Given the description of an element on the screen output the (x, y) to click on. 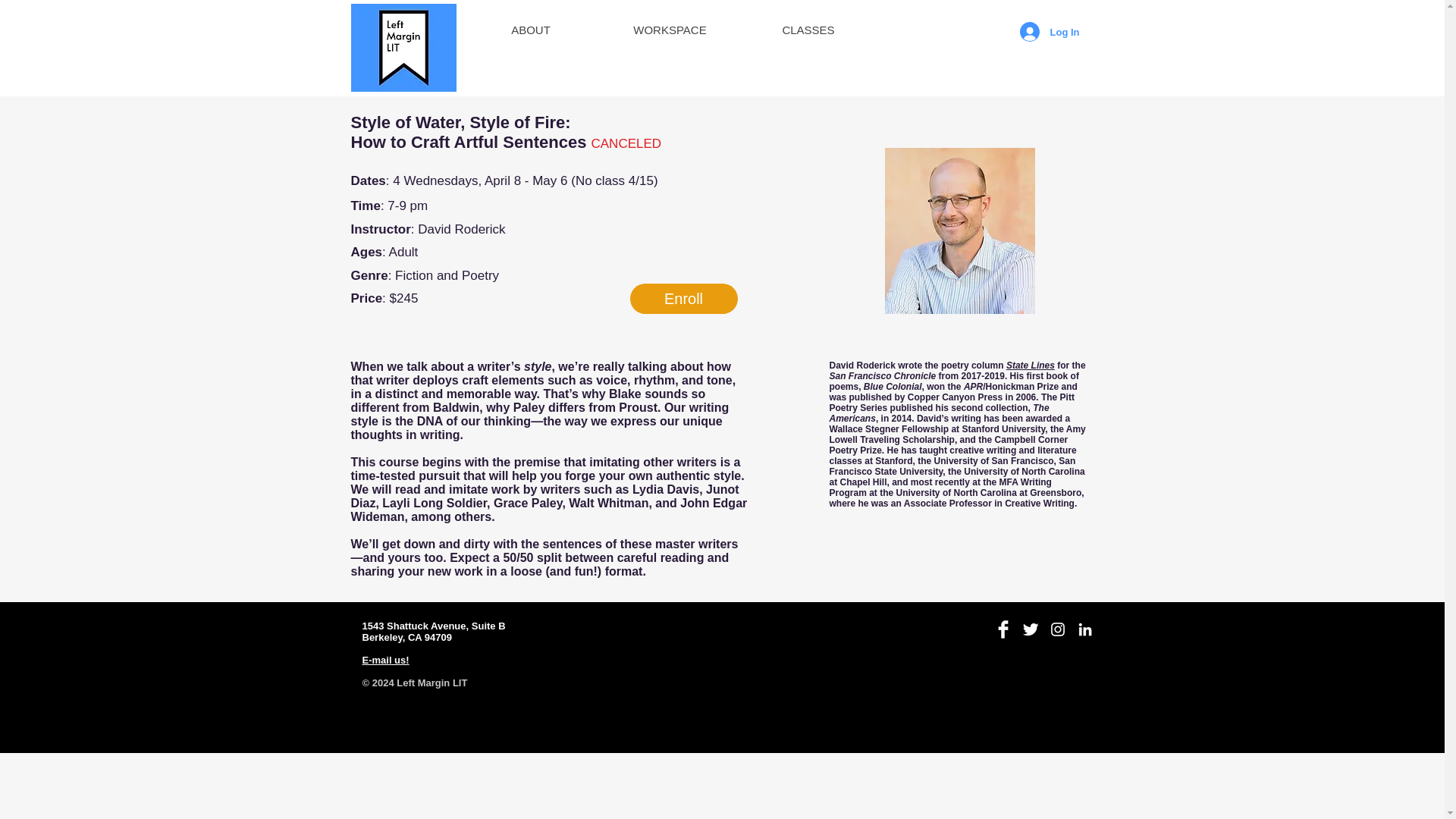
E-mail us! (385, 659)
Log In (1049, 31)
State Lines (1030, 365)
Enroll (682, 298)
